Given the description of an element on the screen output the (x, y) to click on. 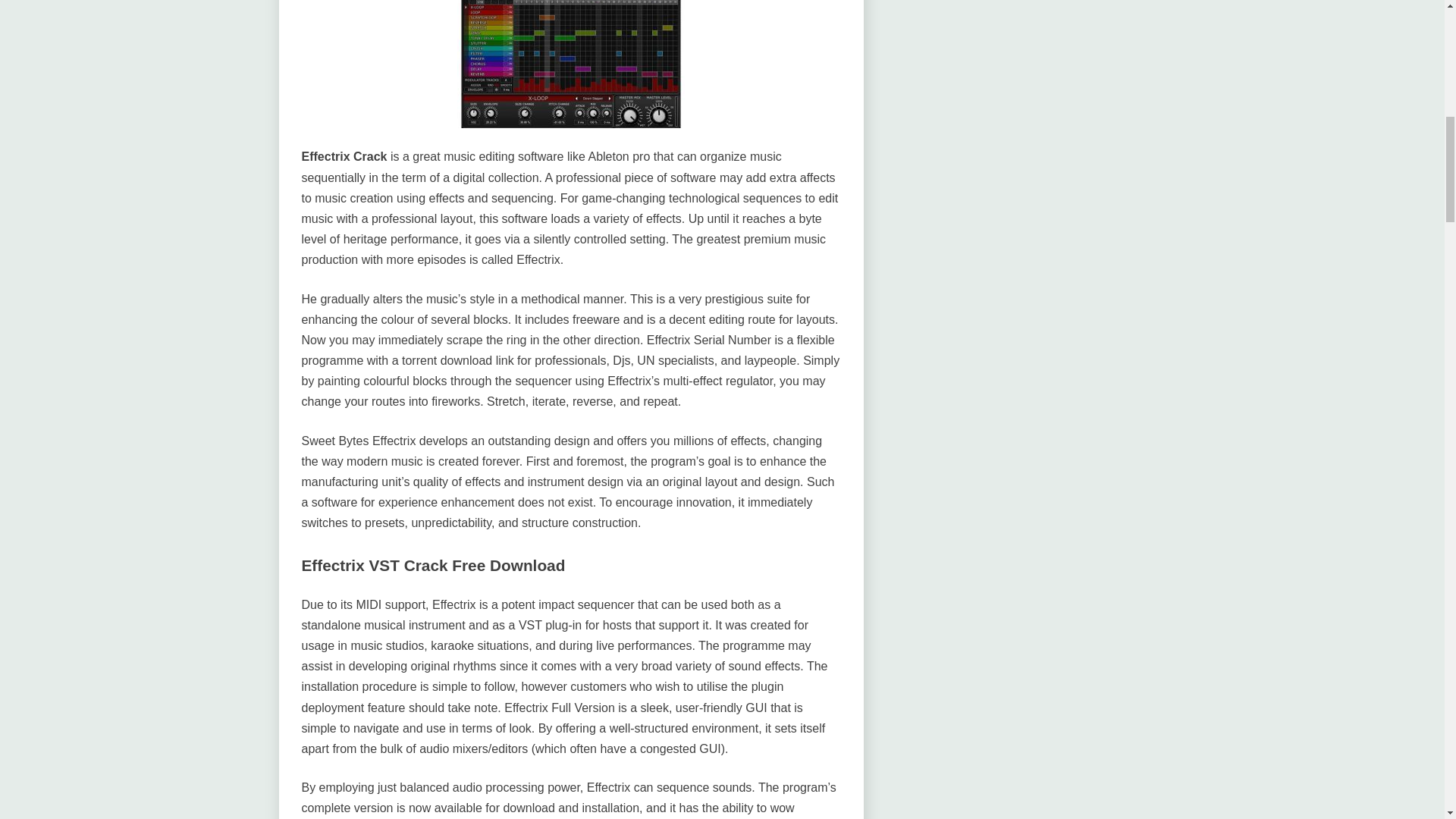
Effectrix VSt Crack (570, 63)
